Given the description of an element on the screen output the (x, y) to click on. 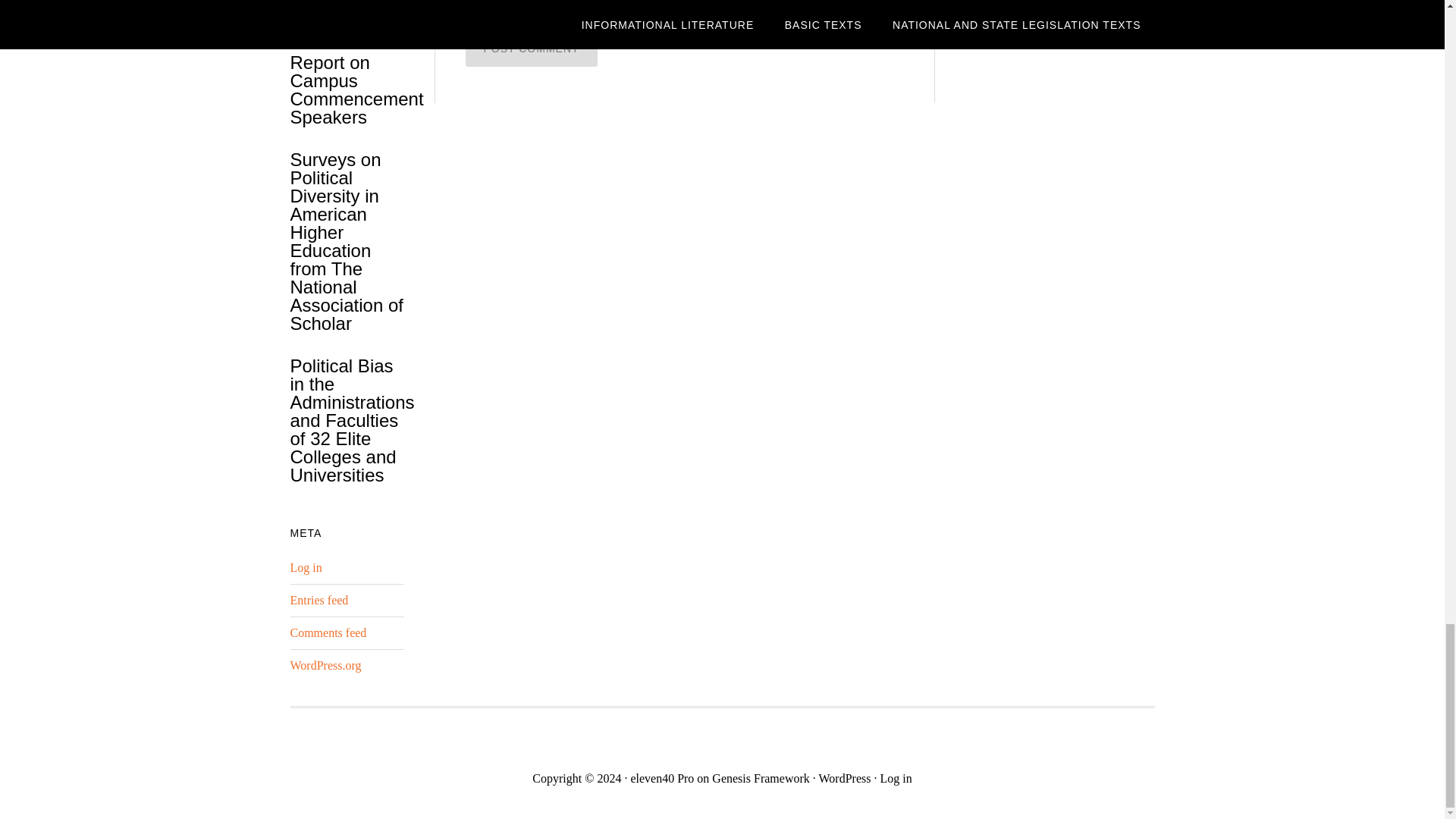
Post Comment (530, 48)
Post Comment (530, 48)
